Given the description of an element on the screen output the (x, y) to click on. 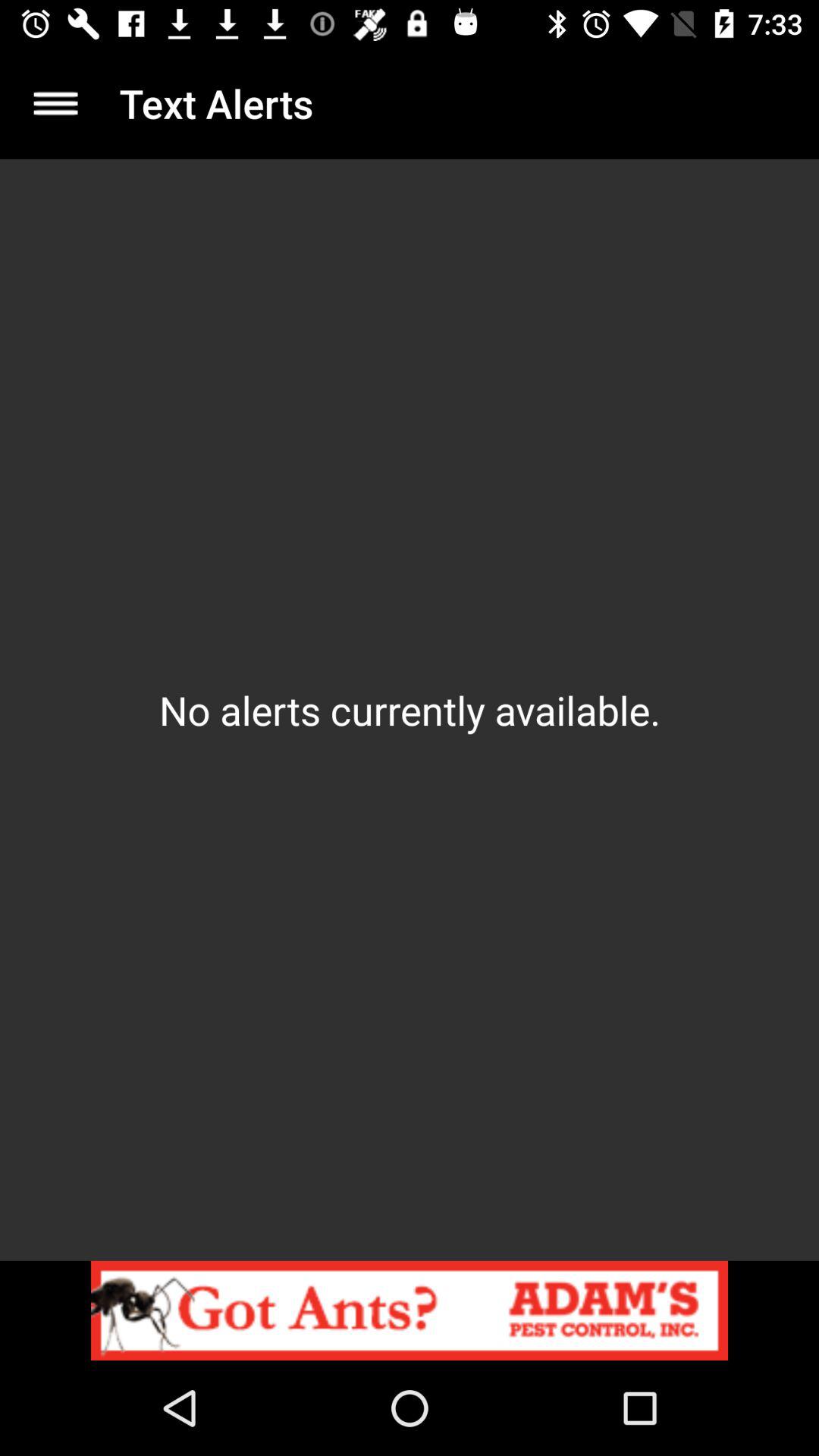
choose the icon to the left of text alerts icon (55, 103)
